Given the description of an element on the screen output the (x, y) to click on. 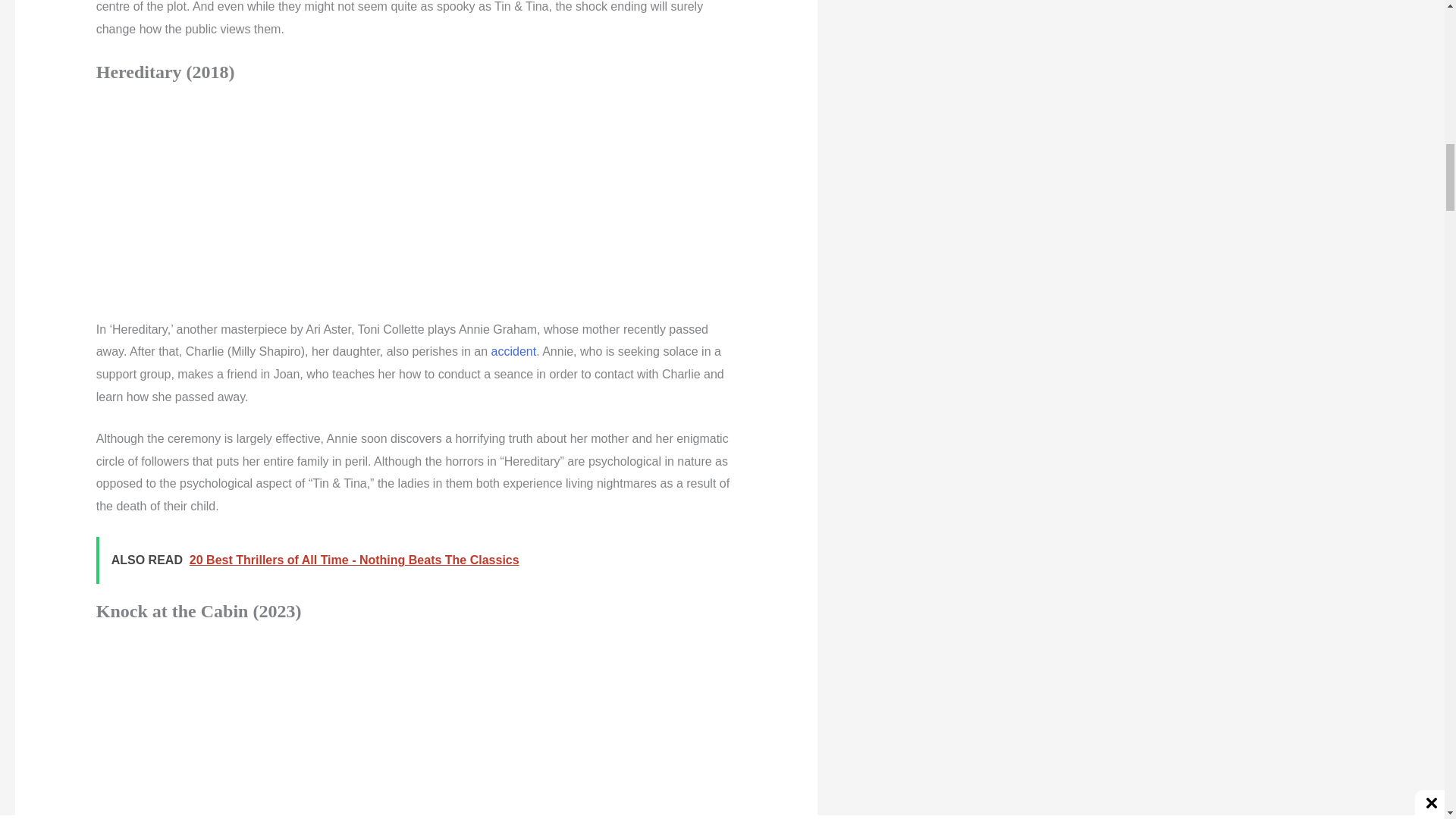
accident (514, 350)
